Given the description of an element on the screen output the (x, y) to click on. 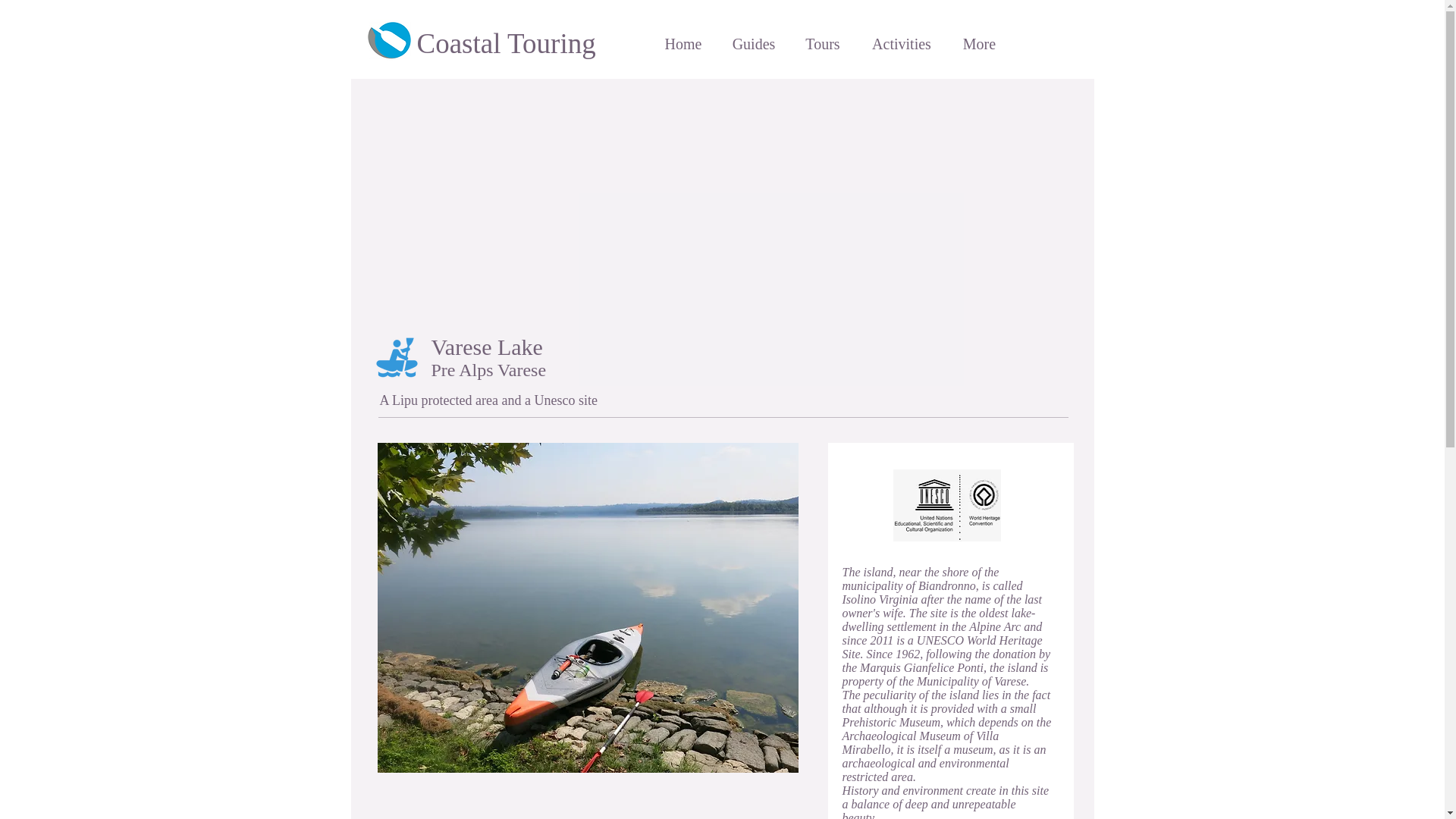
Guides (753, 44)
Tours (821, 44)
Coastal Touring (505, 42)
Home (683, 44)
Activities (900, 44)
